Given the description of an element on the screen output the (x, y) to click on. 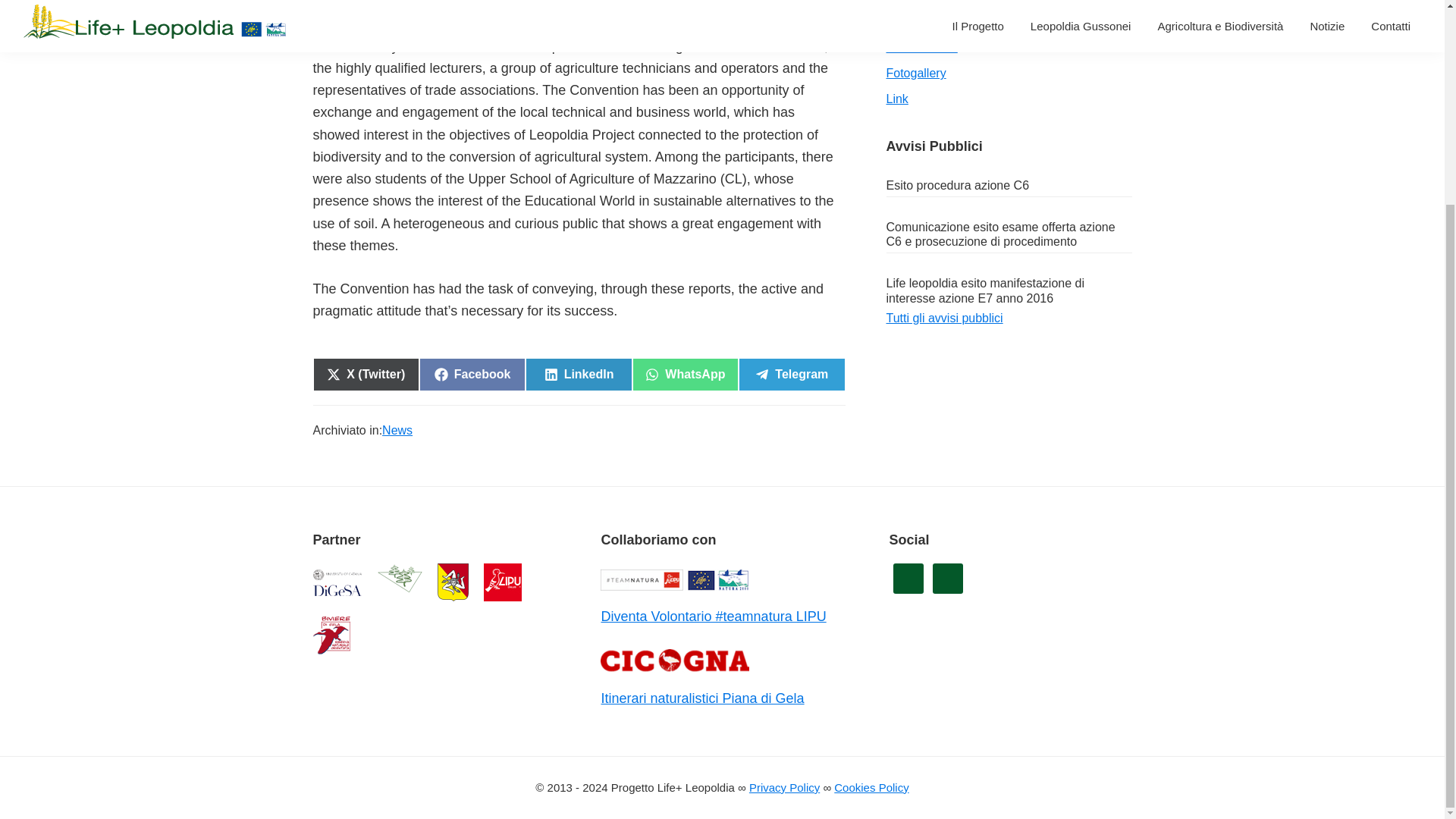
Esito procedura azione C6 (957, 185)
Mappa del sito (924, 1)
News (396, 429)
Fotogallery (914, 72)
Documenti (914, 21)
Pubblicazioni (684, 374)
Link (791, 374)
